Given the description of an element on the screen output the (x, y) to click on. 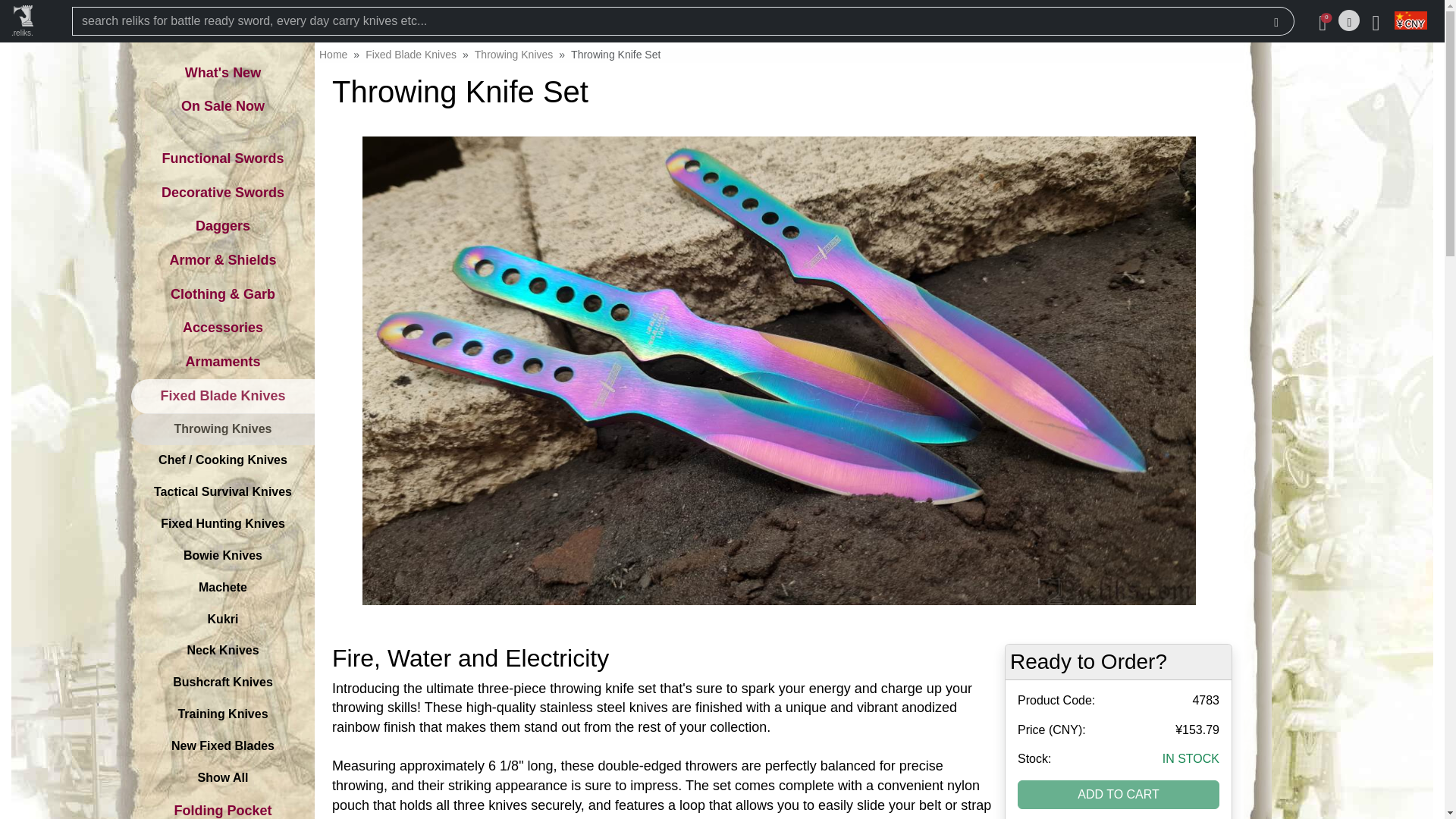
Throwing Knives (513, 54)
Select A Currency (1409, 21)
Home (332, 54)
Home (332, 54)
Fixed Blade Knives (411, 54)
Fixed Blade Knives (411, 54)
ADD TO CART (1118, 794)
Throwing Knives (513, 54)
